Given the description of an element on the screen output the (x, y) to click on. 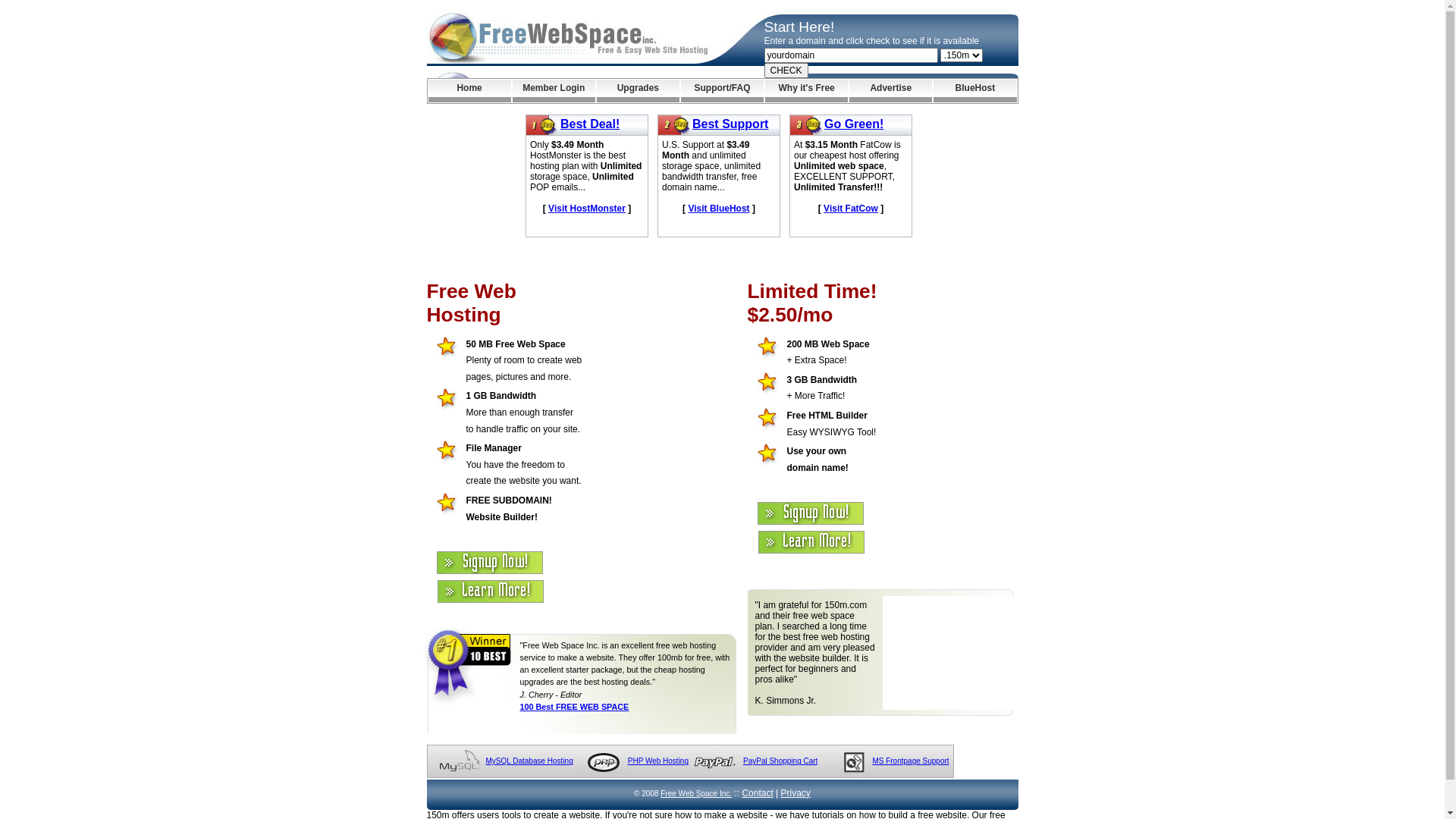
PayPal Shopping Cart Element type: text (780, 760)
Why it's Free Element type: text (806, 90)
Privacy Element type: text (795, 792)
CHECK Element type: text (786, 70)
Advertise Element type: text (890, 90)
MS Frontpage Support Element type: text (910, 760)
Member Login Element type: text (553, 90)
PHP Web Hosting Element type: text (657, 760)
Contact Element type: text (756, 792)
Free Web Space Inc. Element type: text (695, 793)
BlueHost Element type: text (974, 90)
MySQL Database Hosting Element type: text (528, 760)
Home Element type: text (468, 90)
Support/FAQ Element type: text (721, 90)
100 Best FREE WEB SPACE Element type: text (574, 706)
Upgrades Element type: text (637, 90)
